Given the description of an element on the screen output the (x, y) to click on. 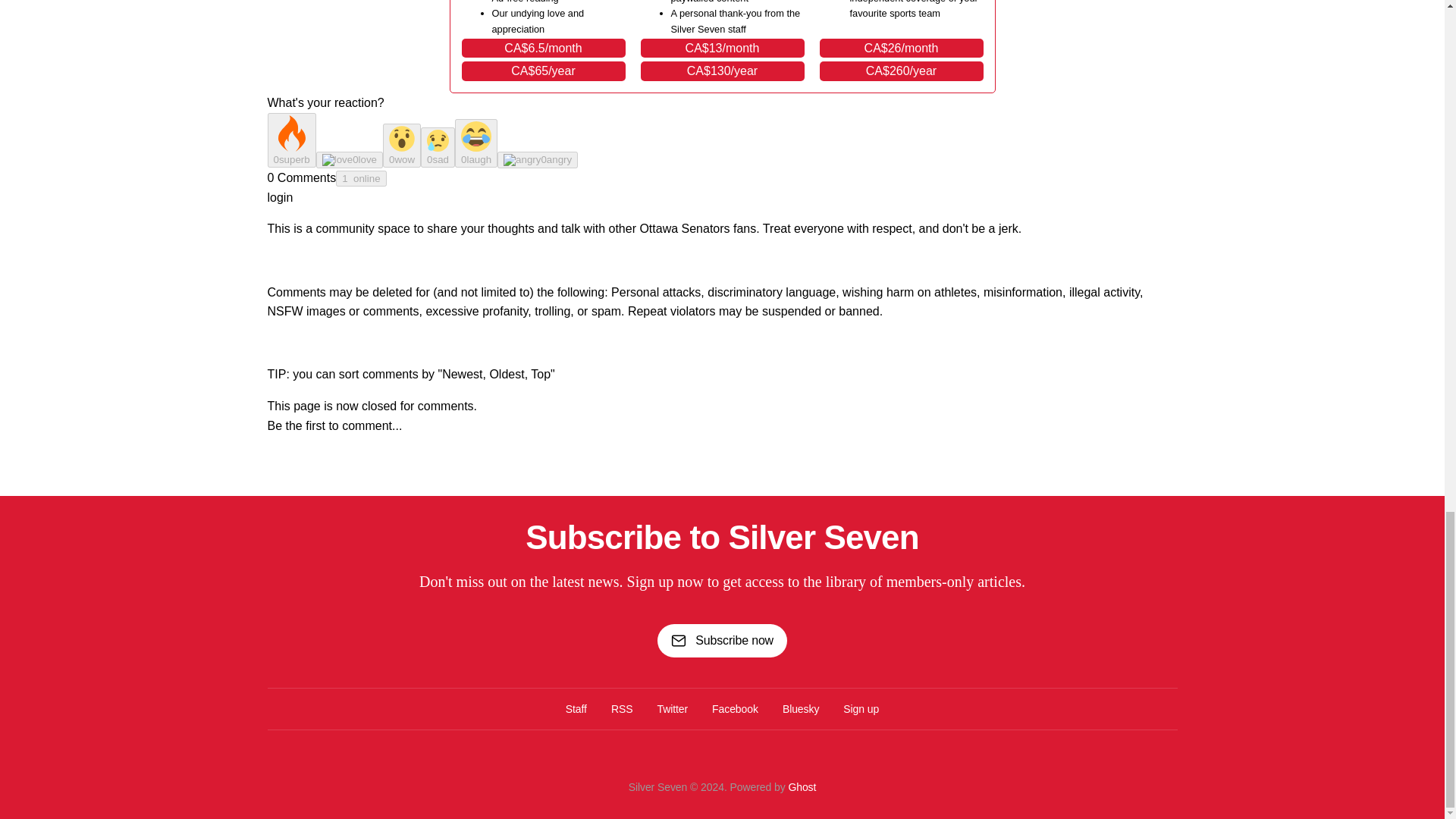
Sign up (861, 709)
RSS (622, 709)
Subscribe now (722, 640)
Staff (576, 709)
Bluesky (800, 709)
Twitter (671, 709)
Facebook (734, 709)
Ghost (801, 787)
